Given the description of an element on the screen output the (x, y) to click on. 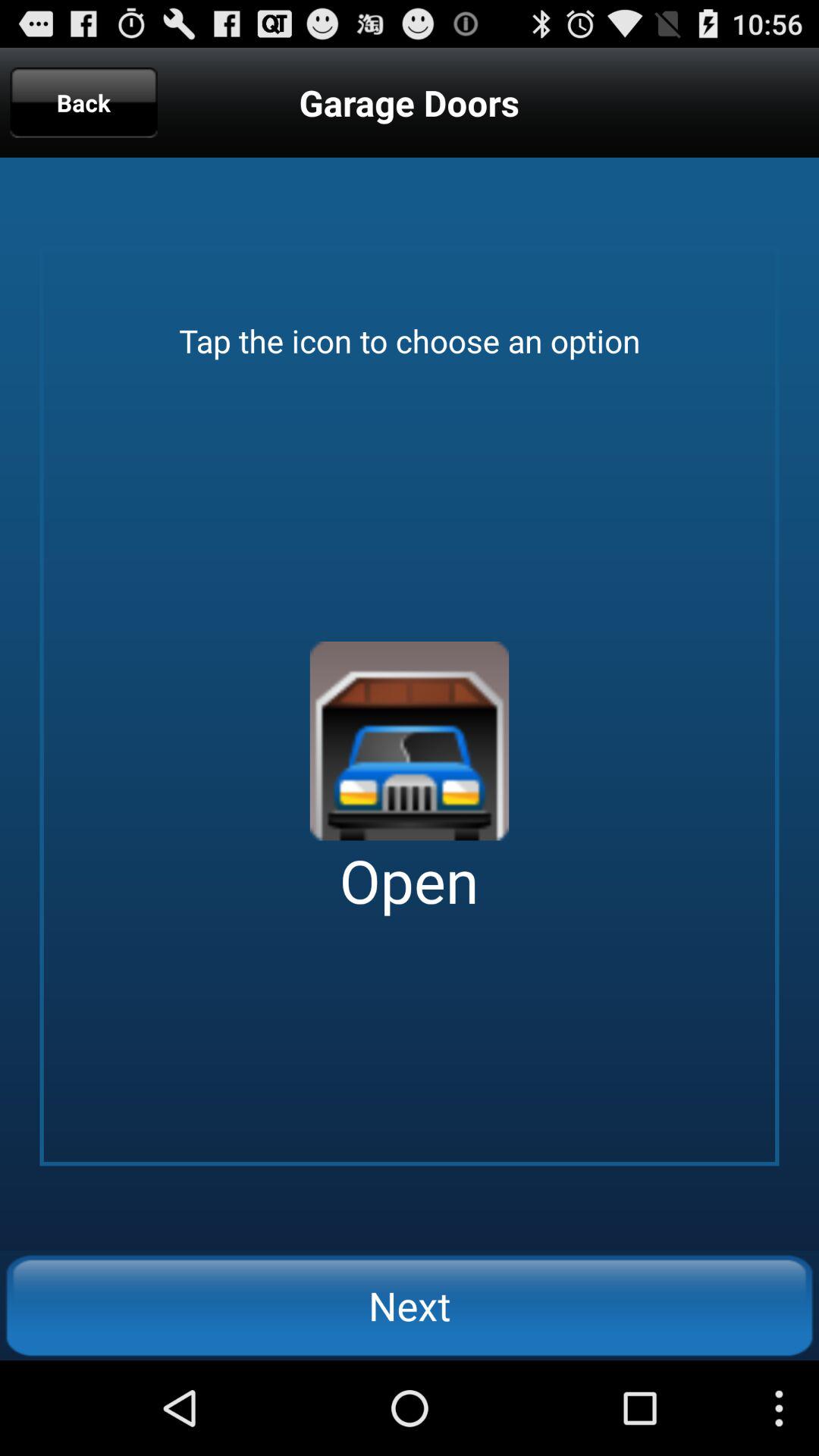
choose the item above the open item (409, 740)
